Given the description of an element on the screen output the (x, y) to click on. 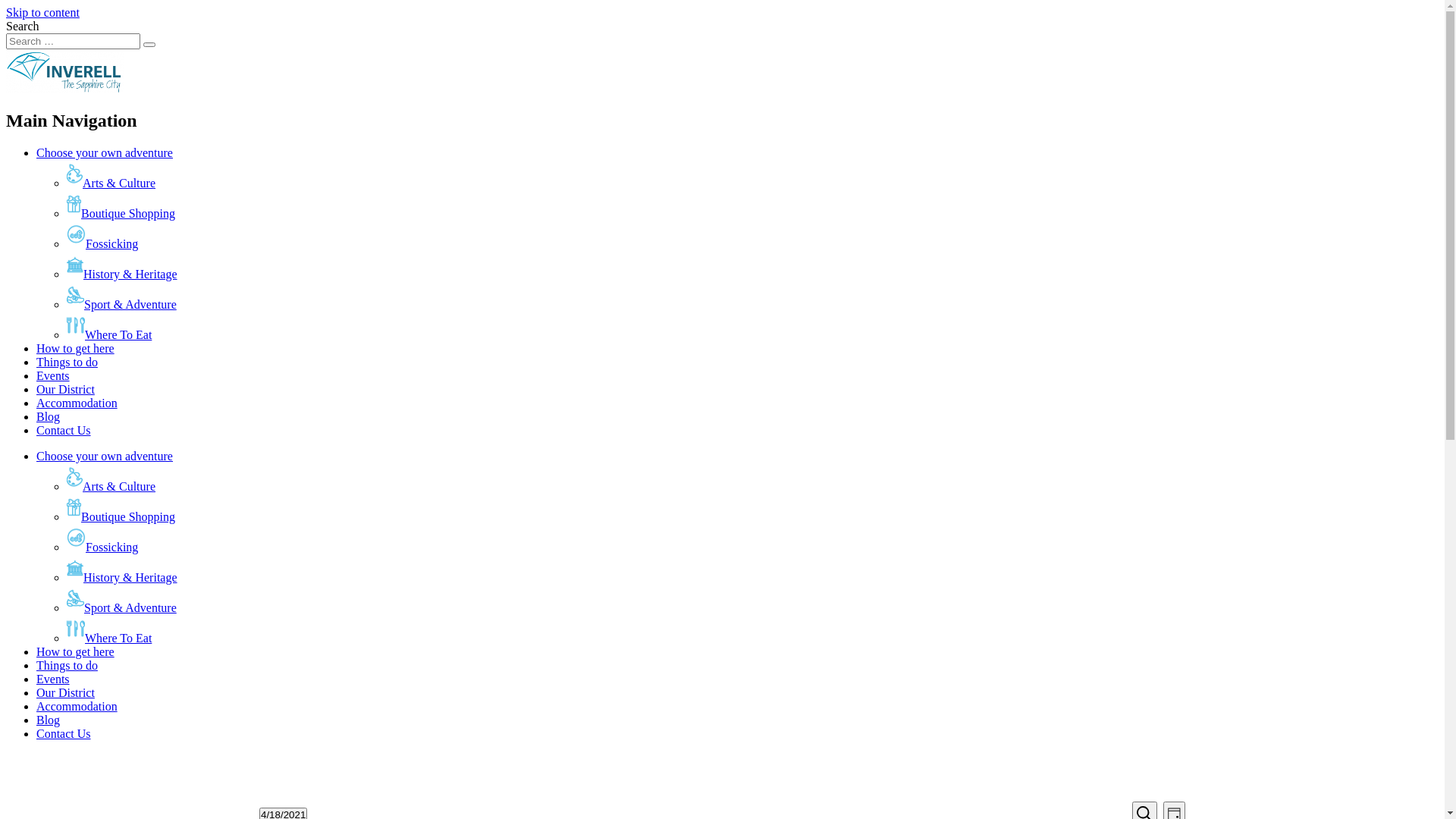
Boutique Shopping Element type: text (120, 516)
Our District Element type: text (65, 692)
Choose your own adventure Element type: text (104, 455)
Blog Element type: text (47, 719)
Our District Element type: text (65, 388)
History & Heritage Element type: text (121, 577)
Arts & Culture Element type: text (110, 182)
Accommodation Element type: text (76, 705)
Contact Us Element type: text (63, 733)
Things to do Element type: text (66, 664)
Boutique Shopping Element type: text (120, 213)
Where To Eat Element type: text (108, 637)
How to get here Element type: text (75, 651)
Blog Element type: text (47, 416)
Contact Us Element type: text (63, 429)
Inverell Council Element type: hover (65, 87)
Events Element type: text (52, 375)
Sport & Adventure Element type: text (121, 304)
Things to do Element type: text (66, 361)
How to get here Element type: text (75, 348)
Choose your own adventure Element type: text (104, 152)
Skip to content Element type: text (42, 12)
Where To Eat Element type: text (108, 334)
Arts & Culture Element type: text (110, 486)
Events Element type: text (52, 678)
History & Heritage Element type: text (121, 273)
Sport & Adventure Element type: text (121, 607)
Fossicking Element type: text (102, 243)
Fossicking Element type: text (102, 546)
Accommodation Element type: text (76, 402)
